Given the description of an element on the screen output the (x, y) to click on. 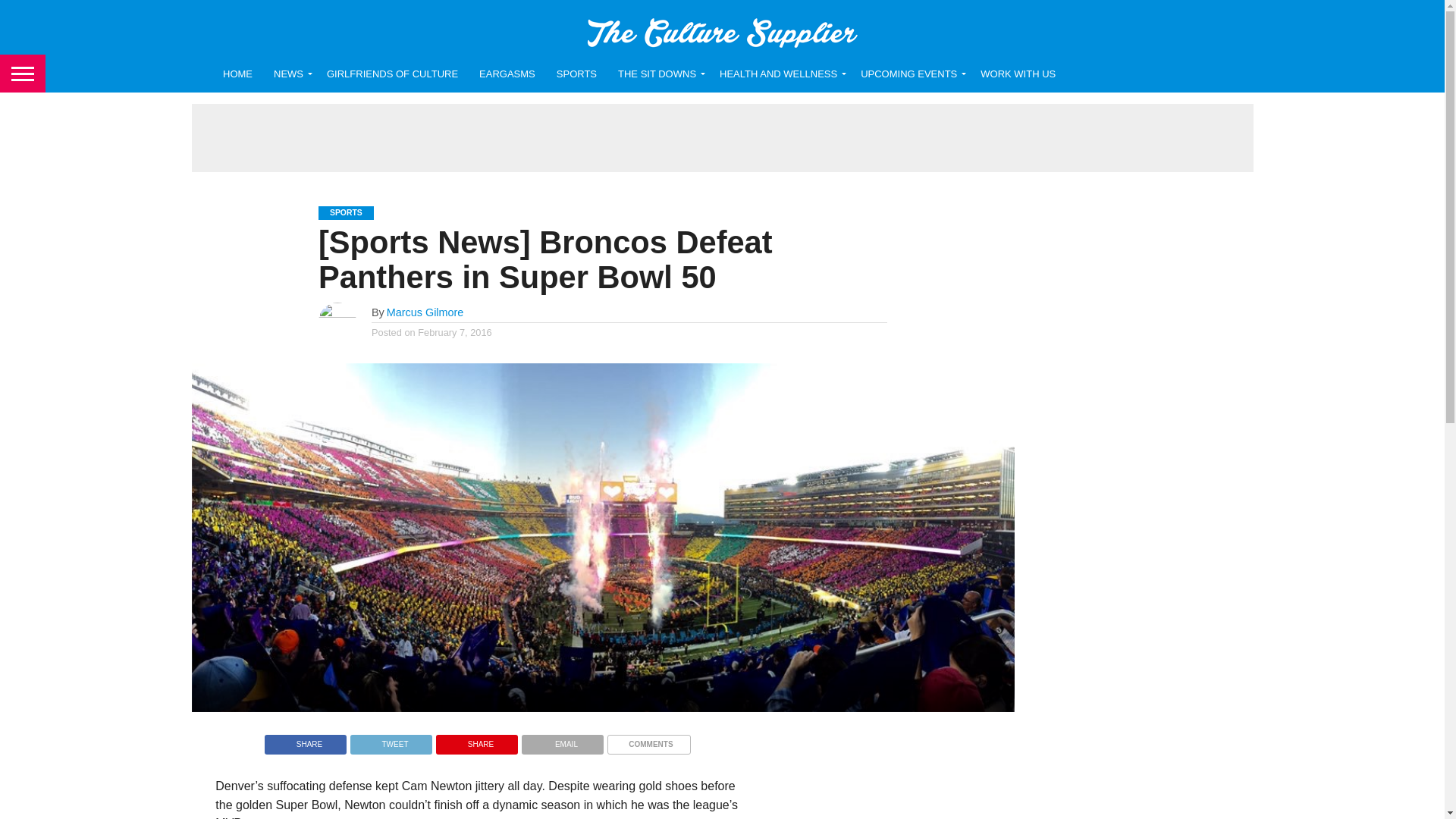
Marcus Gilmore (425, 312)
SPORTS (576, 73)
HEALTH AND WELLNESS (779, 73)
HOME (237, 73)
NEWS (289, 73)
THE SIT DOWNS (658, 73)
Posts by Marcus Gilmore (425, 312)
WORK WITH US (1017, 73)
Tweet This Post (390, 739)
UPCOMING EVENTS (909, 73)
GIRLFRIENDS OF CULTURE (391, 73)
Share on Facebook (305, 739)
EARGASMS (507, 73)
Pin This Post (476, 739)
